Given the description of an element on the screen output the (x, y) to click on. 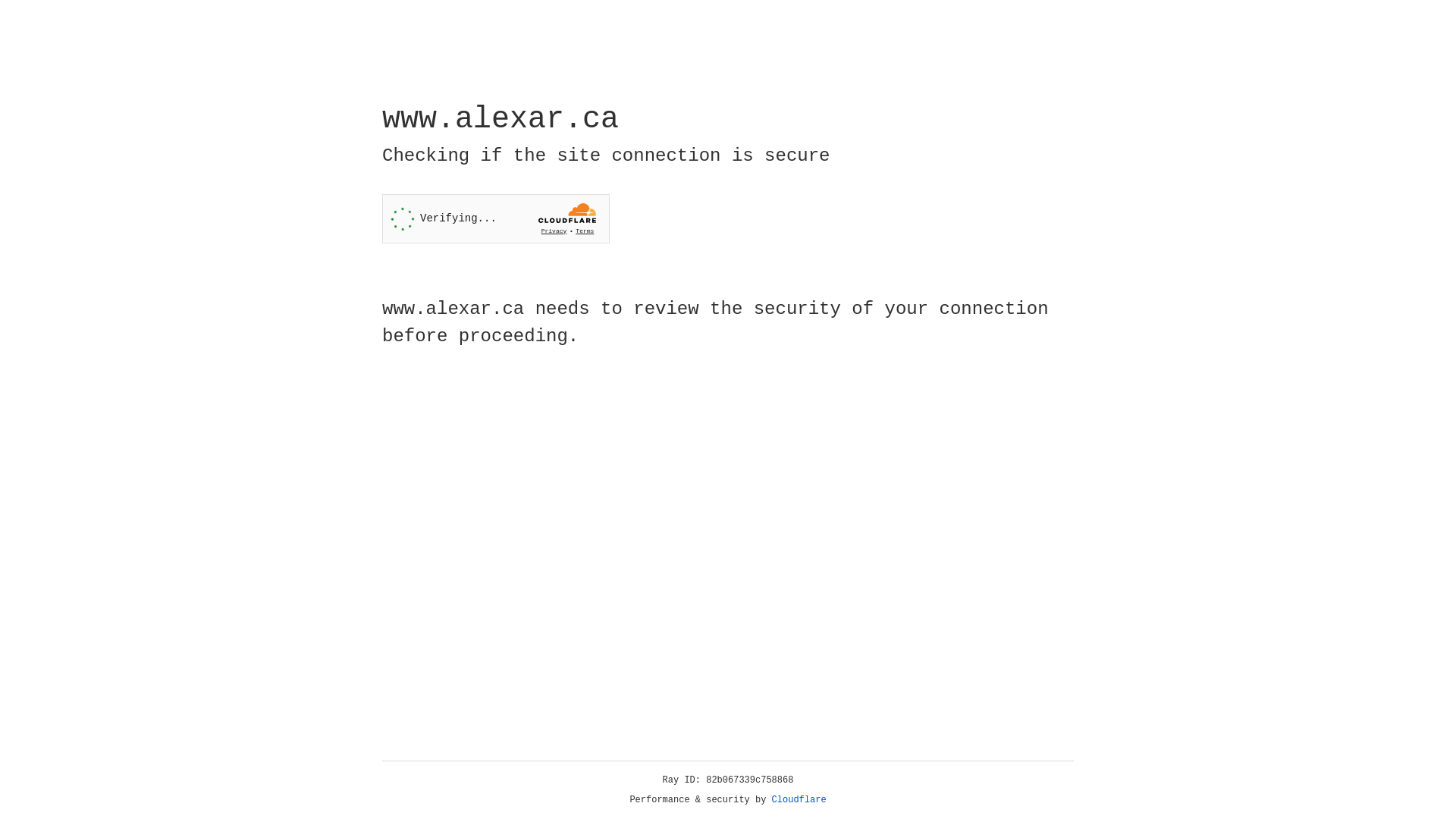
Cloudflare Element type: text (798, 799)
Widget containing a Cloudflare security challenge Element type: hover (495, 218)
